Given the description of an element on the screen output the (x, y) to click on. 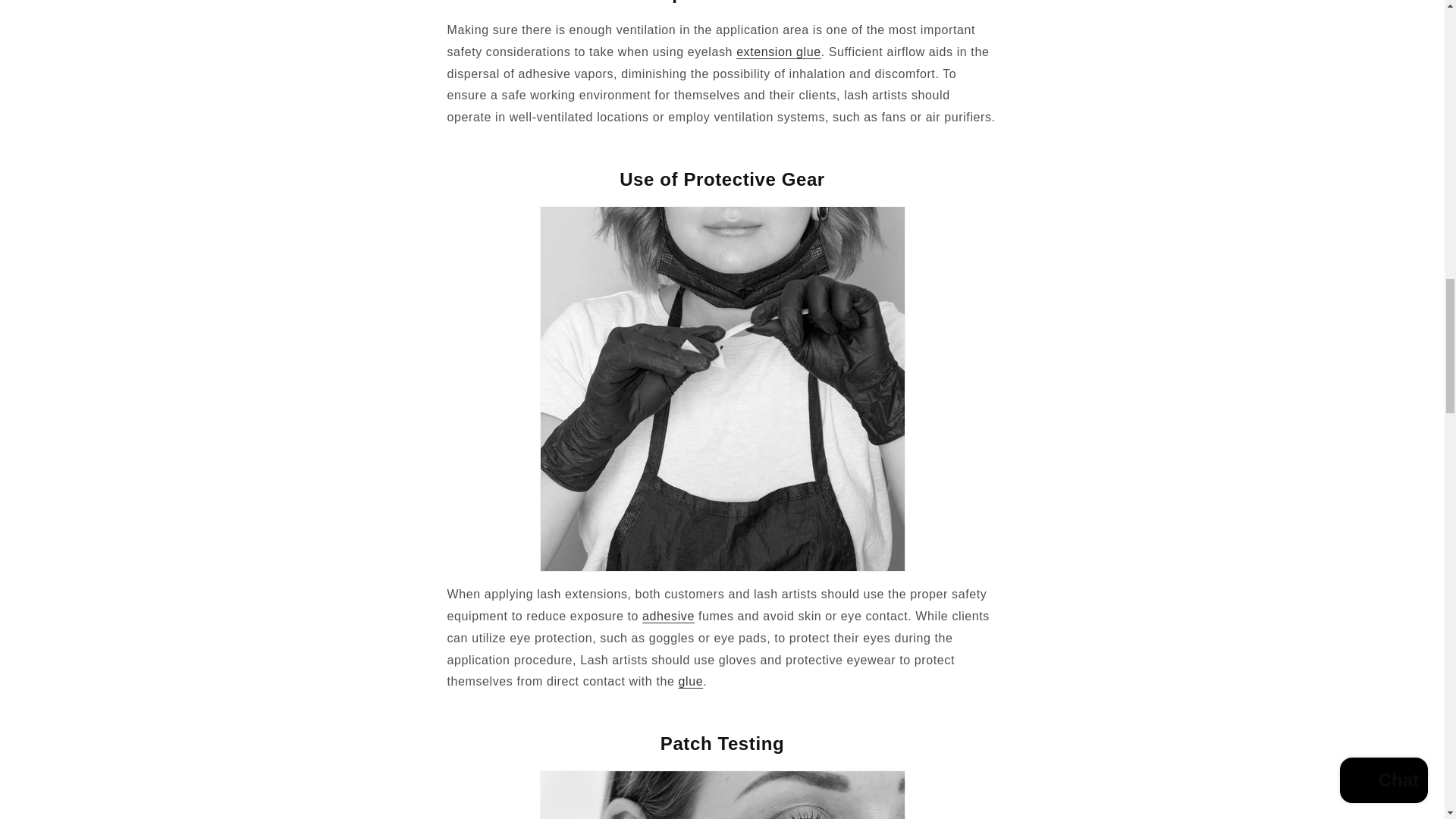
eyelash-extension-glue-classic-supreme (690, 680)
Eyelash-extension-glue-classic-supreme (778, 51)
Eyelash-extension-glue-classic-hyper-long-lasting (668, 615)
